Given the description of an element on the screen output the (x, y) to click on. 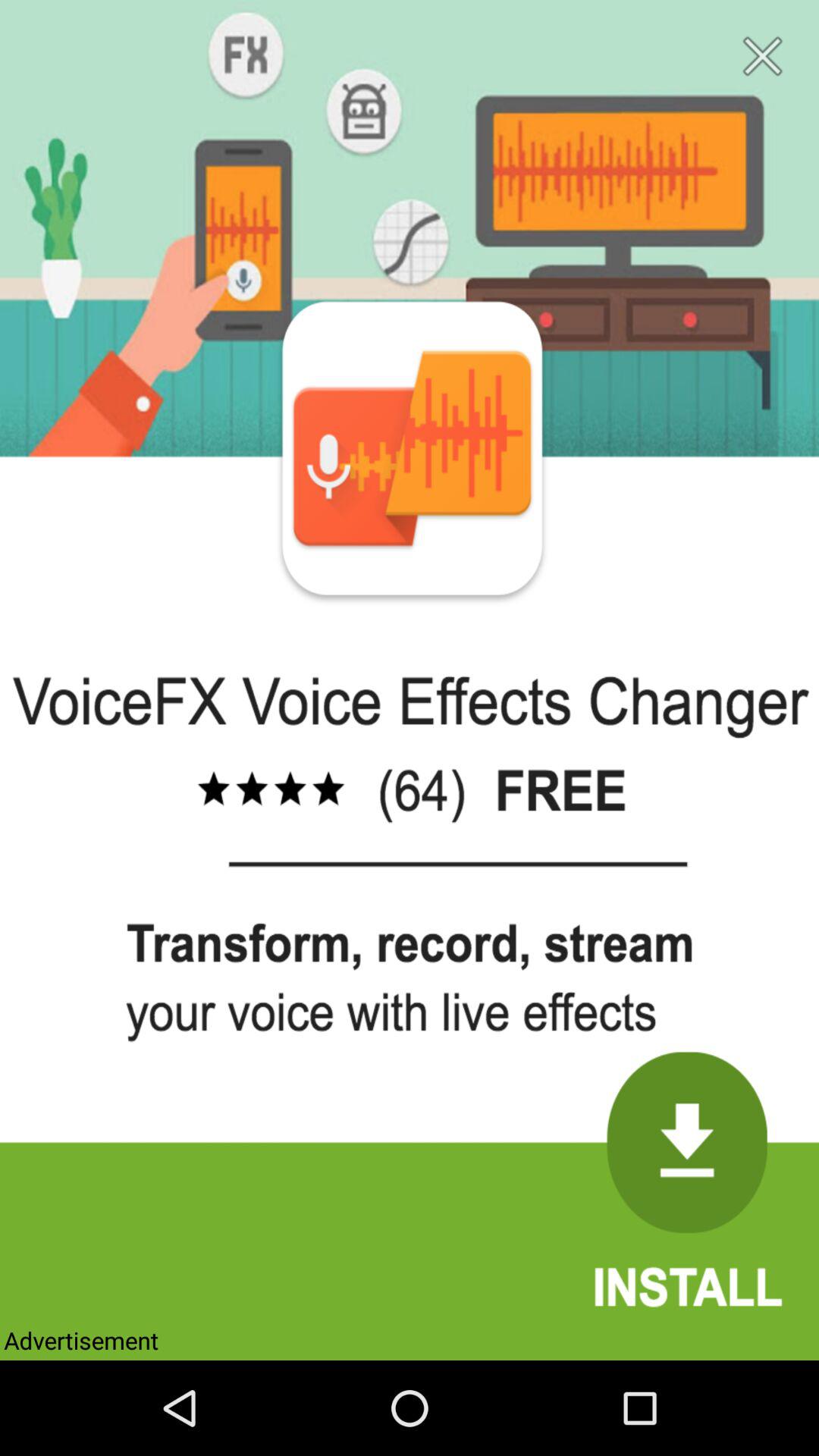
close screen (762, 56)
